Given the description of an element on the screen output the (x, y) to click on. 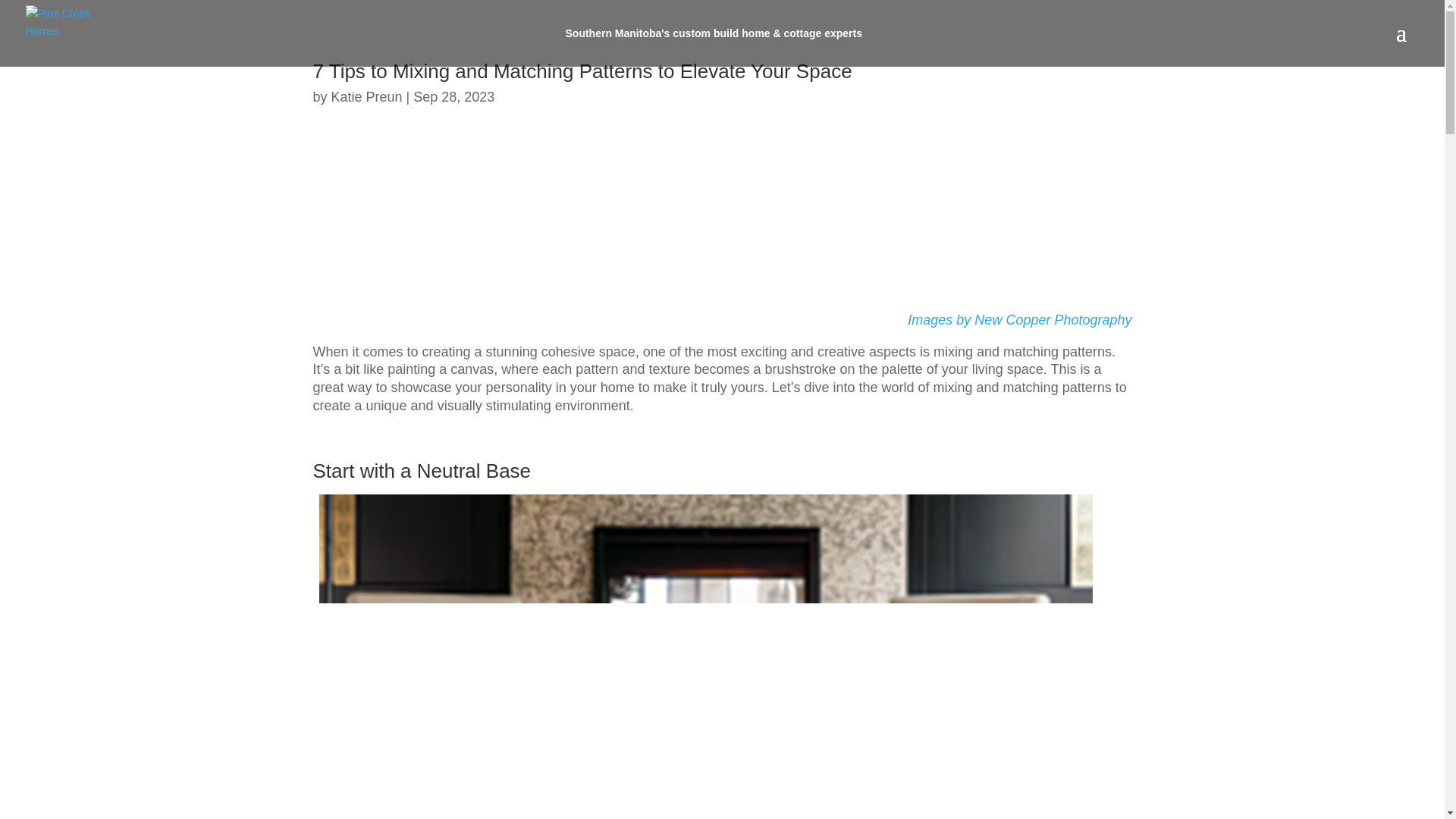
Katie Preun (367, 96)
Images by New Copper Photography (1019, 319)
Posts by Katie Preun (367, 96)
